Given the description of an element on the screen output the (x, y) to click on. 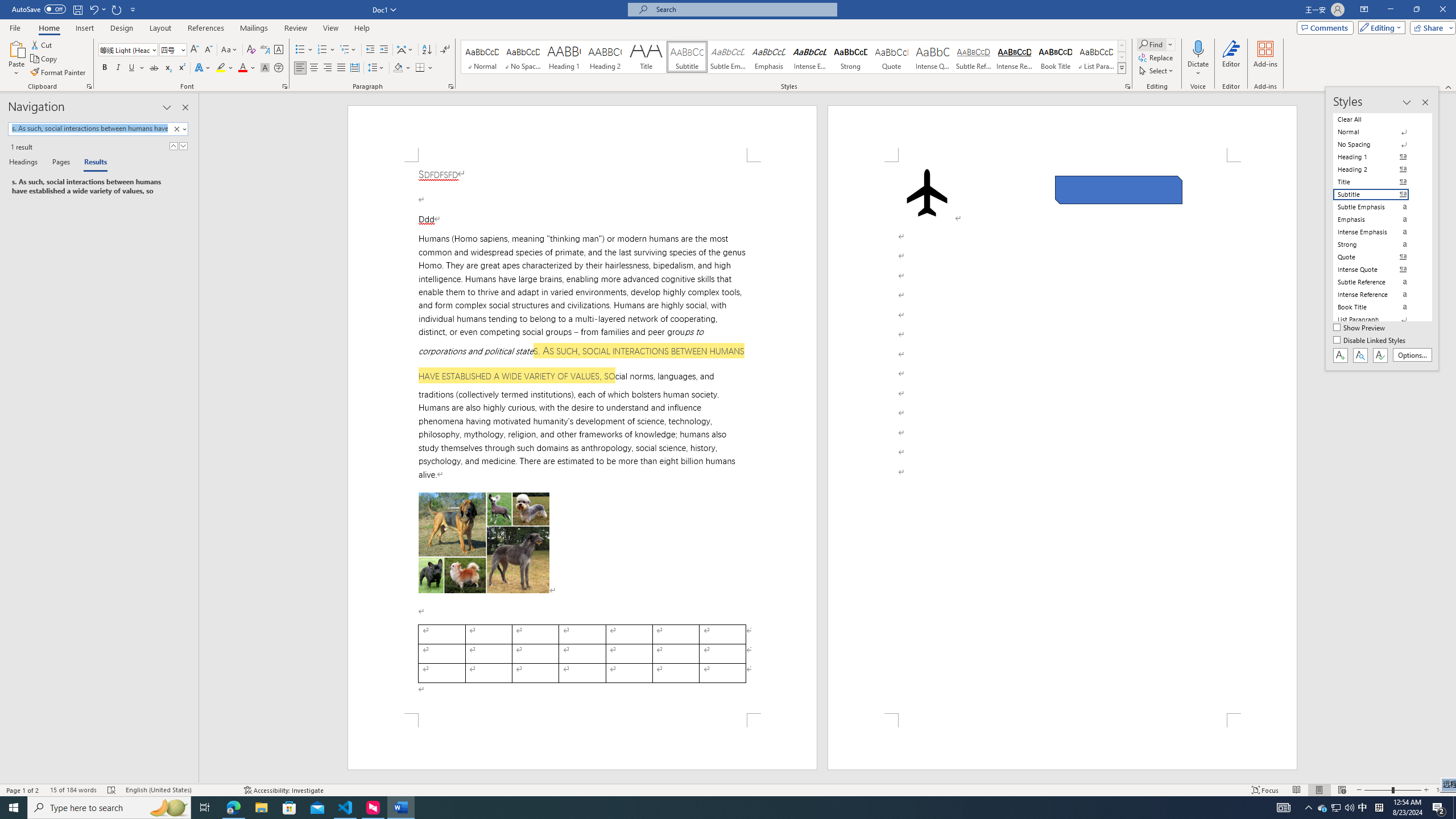
Clear All (1377, 119)
Intense Quote (932, 56)
Options... (1412, 354)
